Given the description of an element on the screen output the (x, y) to click on. 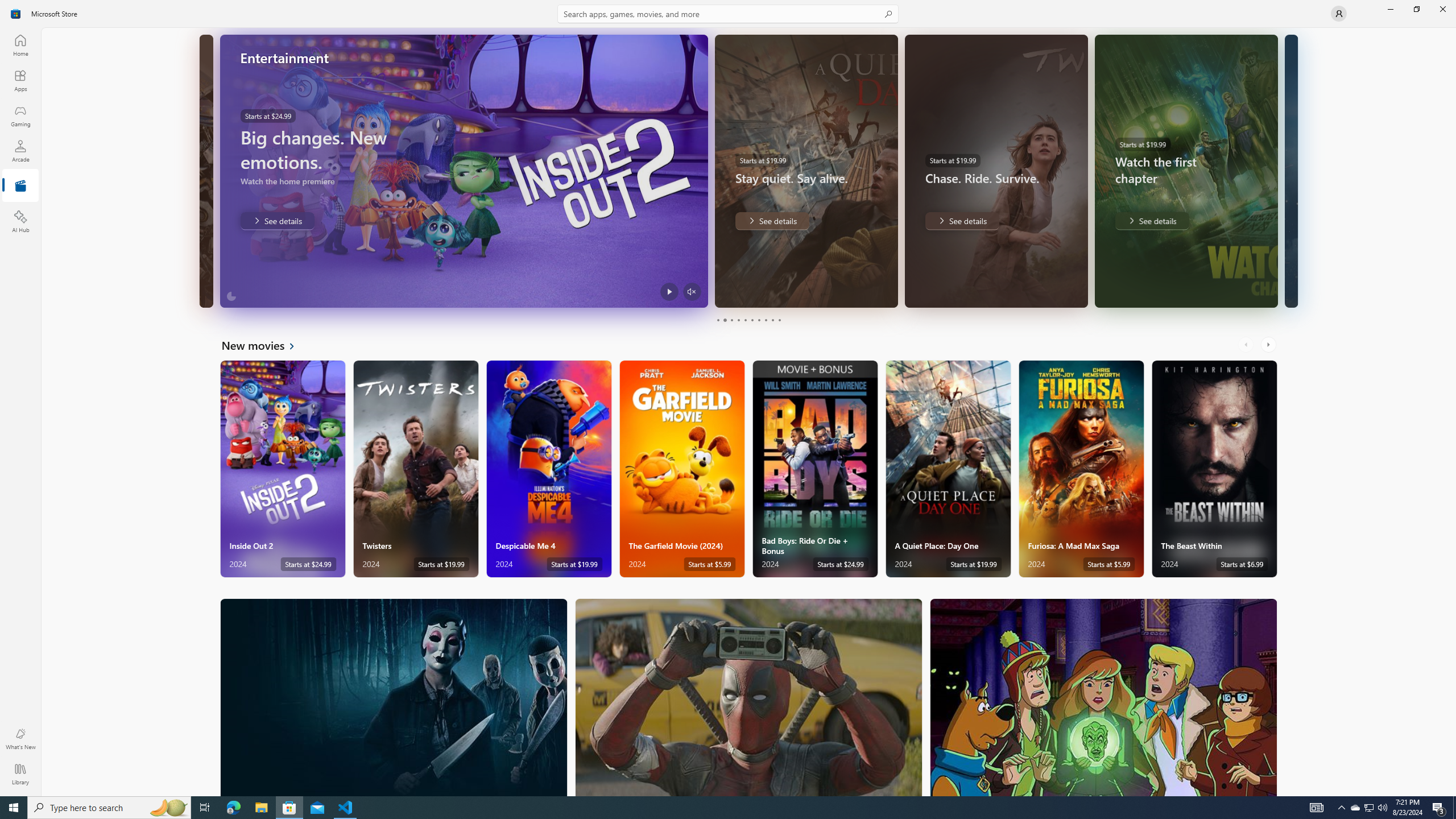
Horror (393, 697)
Page 4 (738, 319)
Page 1 (717, 319)
Unmute (691, 291)
AutomationID: LeftScrollButton (1246, 344)
The Beast Within. Starts at $6.99   (1213, 469)
Page 8 (764, 319)
Page 9 (772, 319)
Action & Adventure (749, 697)
